Given the description of an element on the screen output the (x, y) to click on. 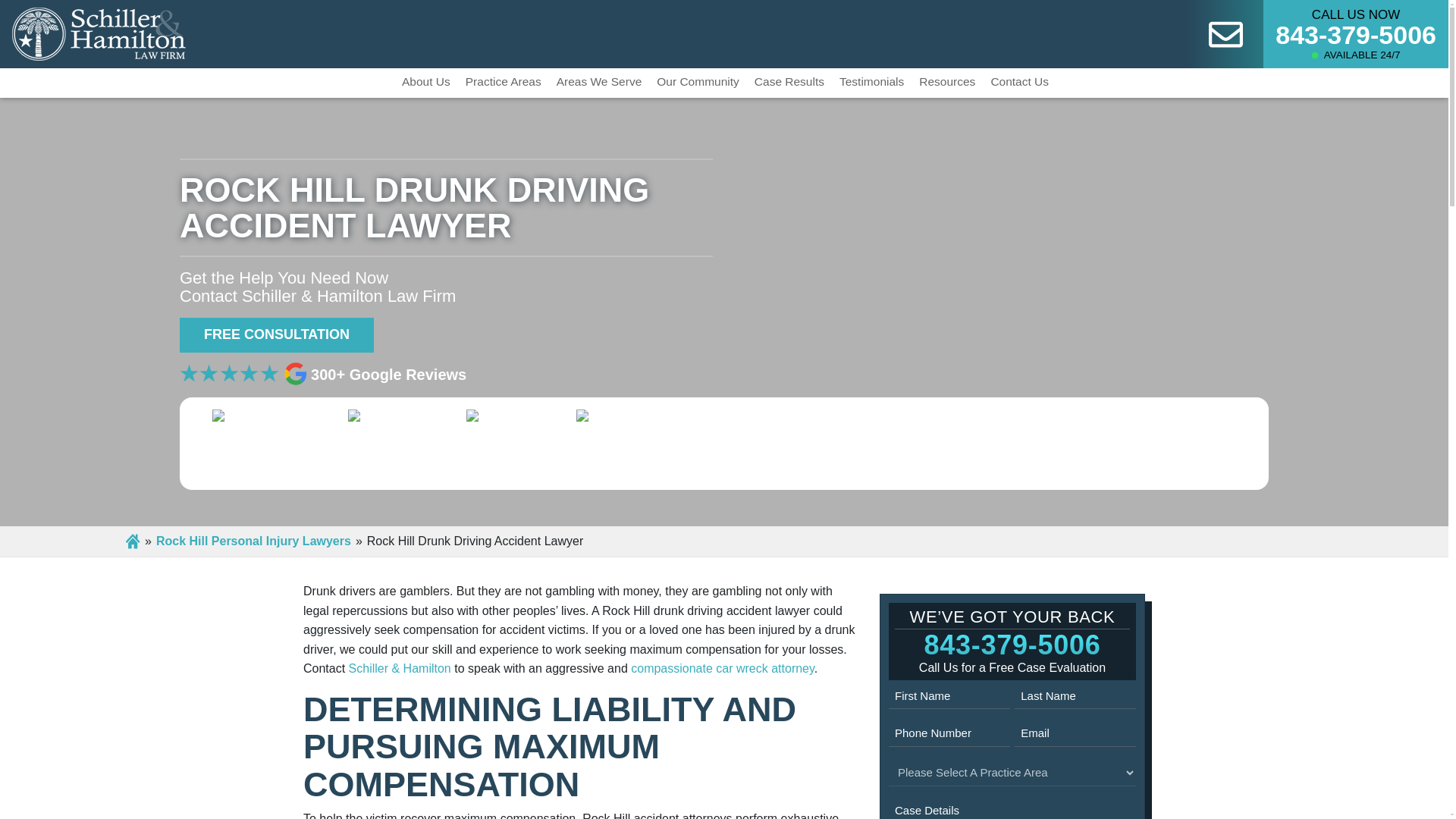
homepage (98, 32)
Contact us now (1225, 33)
